Given the description of an element on the screen output the (x, y) to click on. 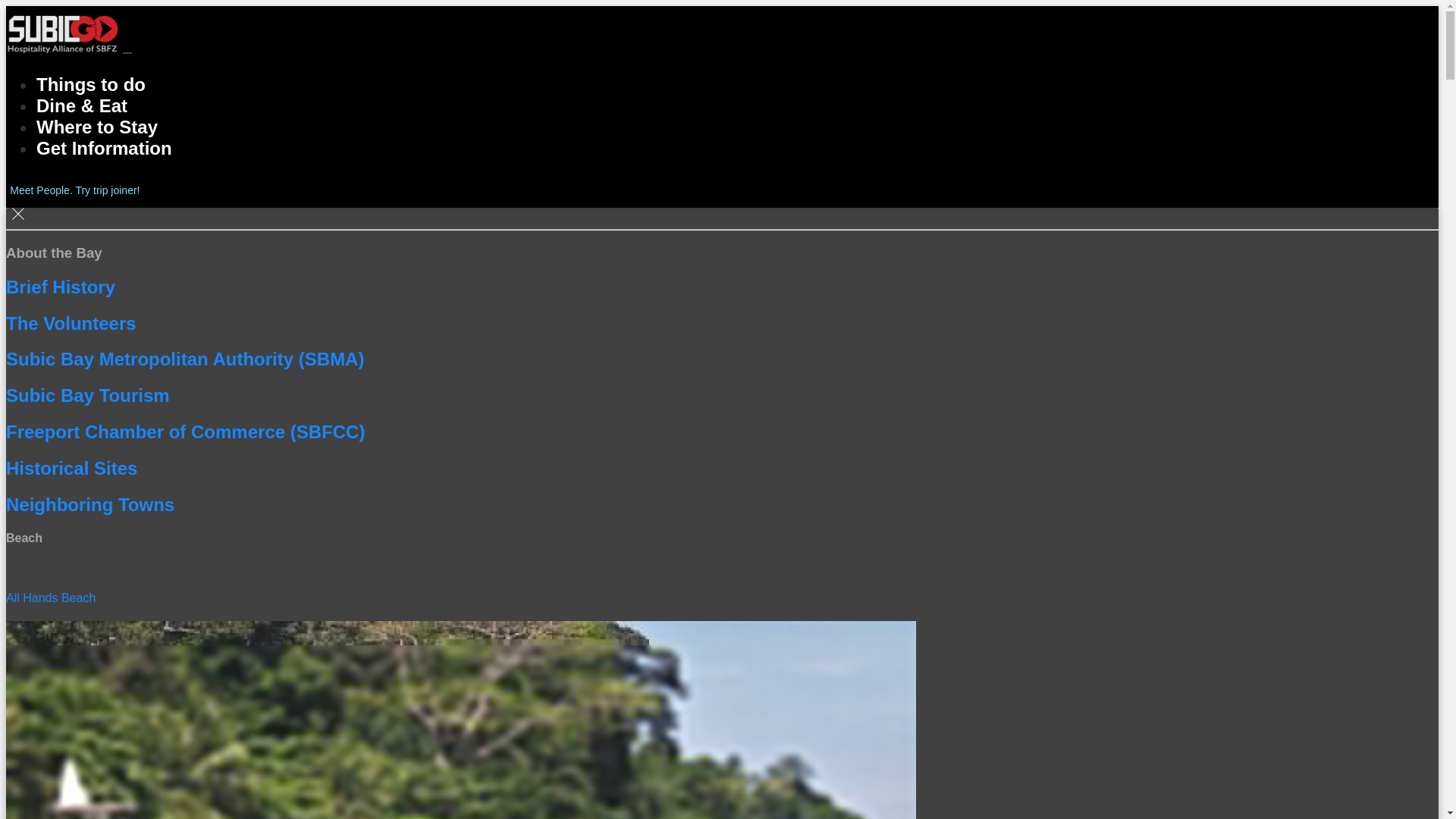
 Meet People. Try trip joiner! (72, 190)
Subic Bay Tourism (714, 385)
The Volunteers (658, 210)
Share SubicGO (7, 188)
